Given the description of an element on the screen output the (x, y) to click on. 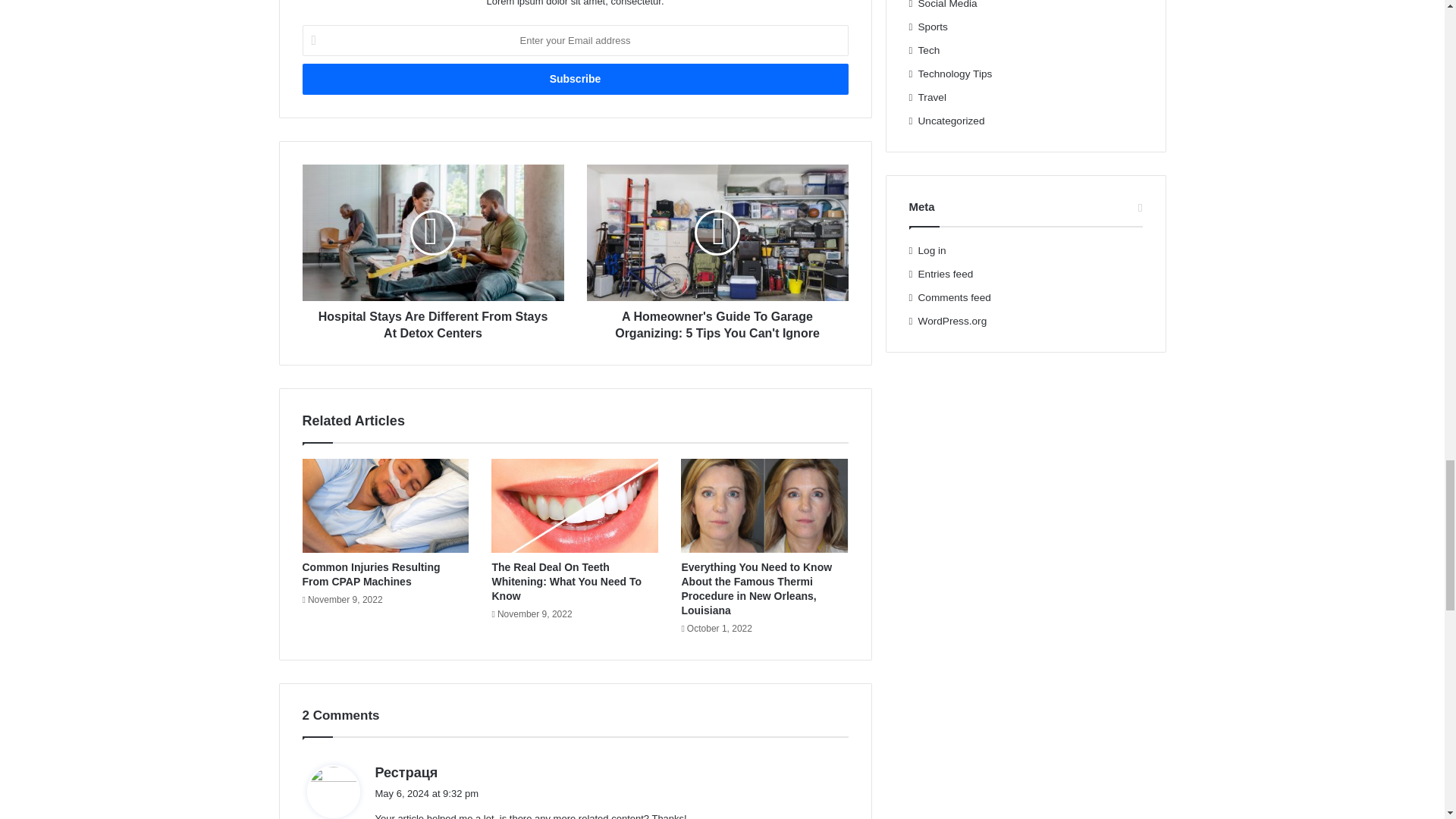
Subscribe (574, 79)
